Given the description of an element on the screen output the (x, y) to click on. 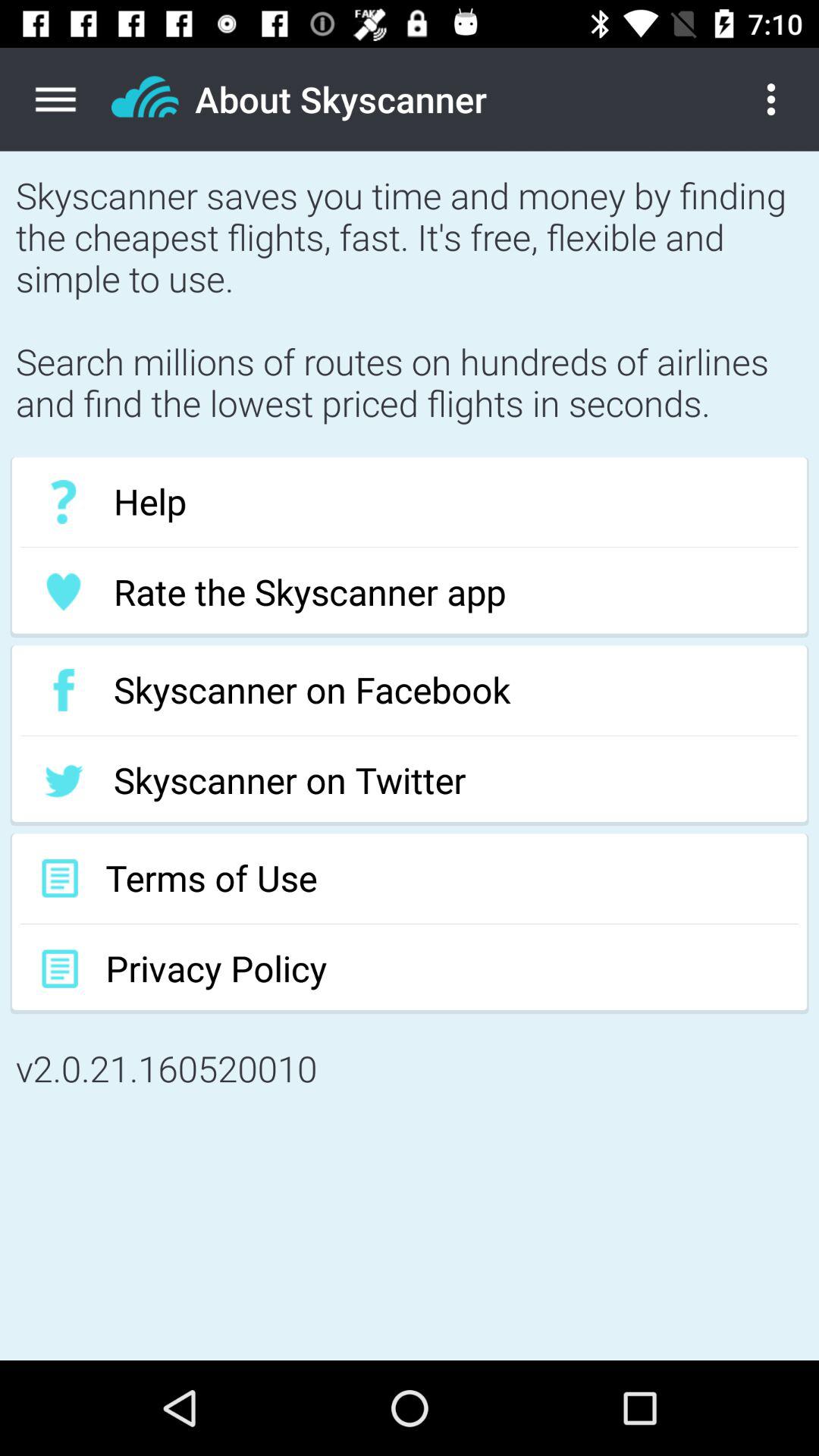
jump until the privacy policy (409, 969)
